Given the description of an element on the screen output the (x, y) to click on. 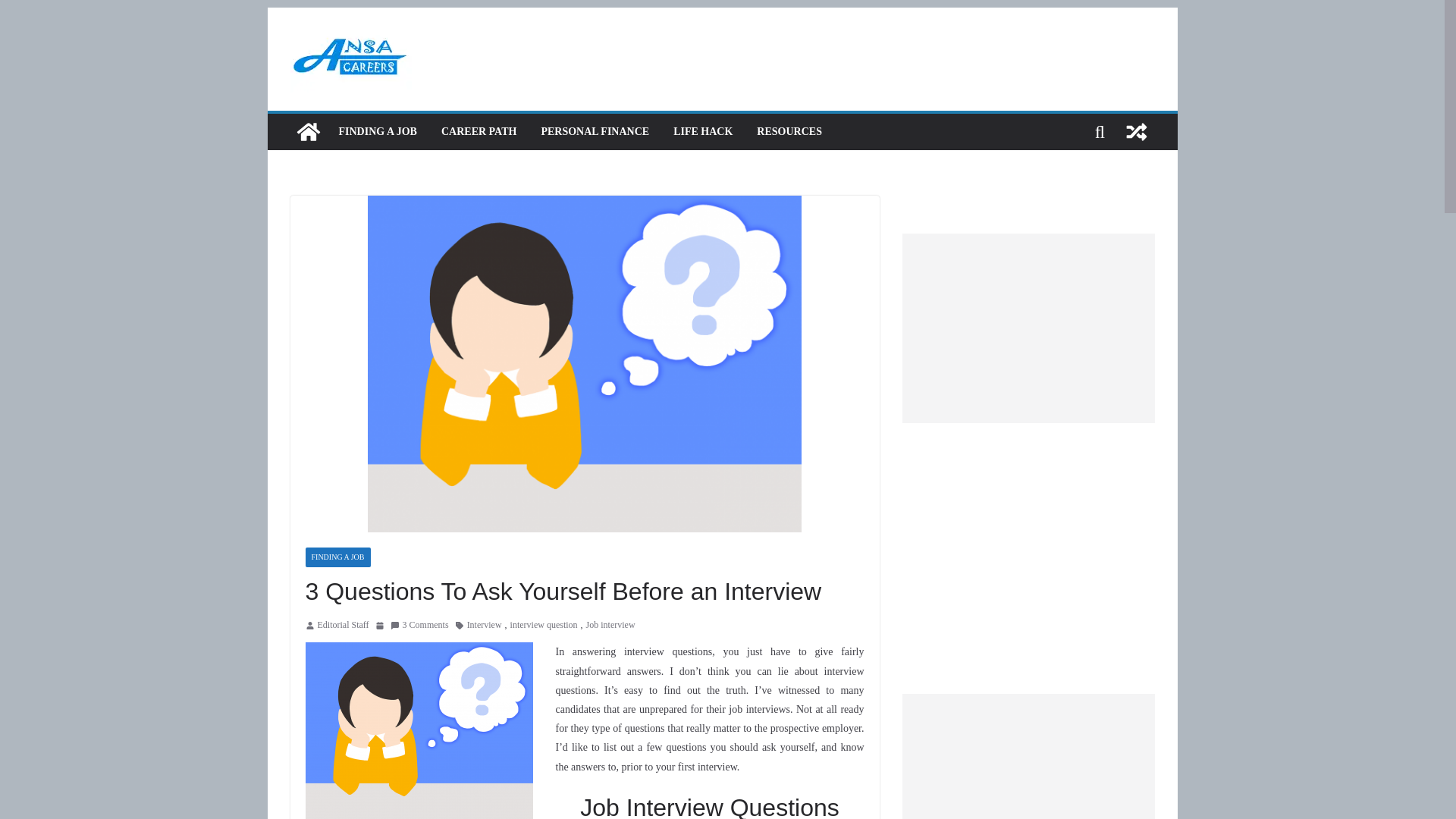
FINDING A JOB (336, 557)
10:30 am (379, 624)
interview question (544, 625)
FINDING A JOB (376, 131)
Editorial Staff (342, 625)
Ansa Careers (307, 131)
Job interview (610, 625)
Interview (484, 625)
LIFE HACK (702, 131)
